Given the description of an element on the screen output the (x, y) to click on. 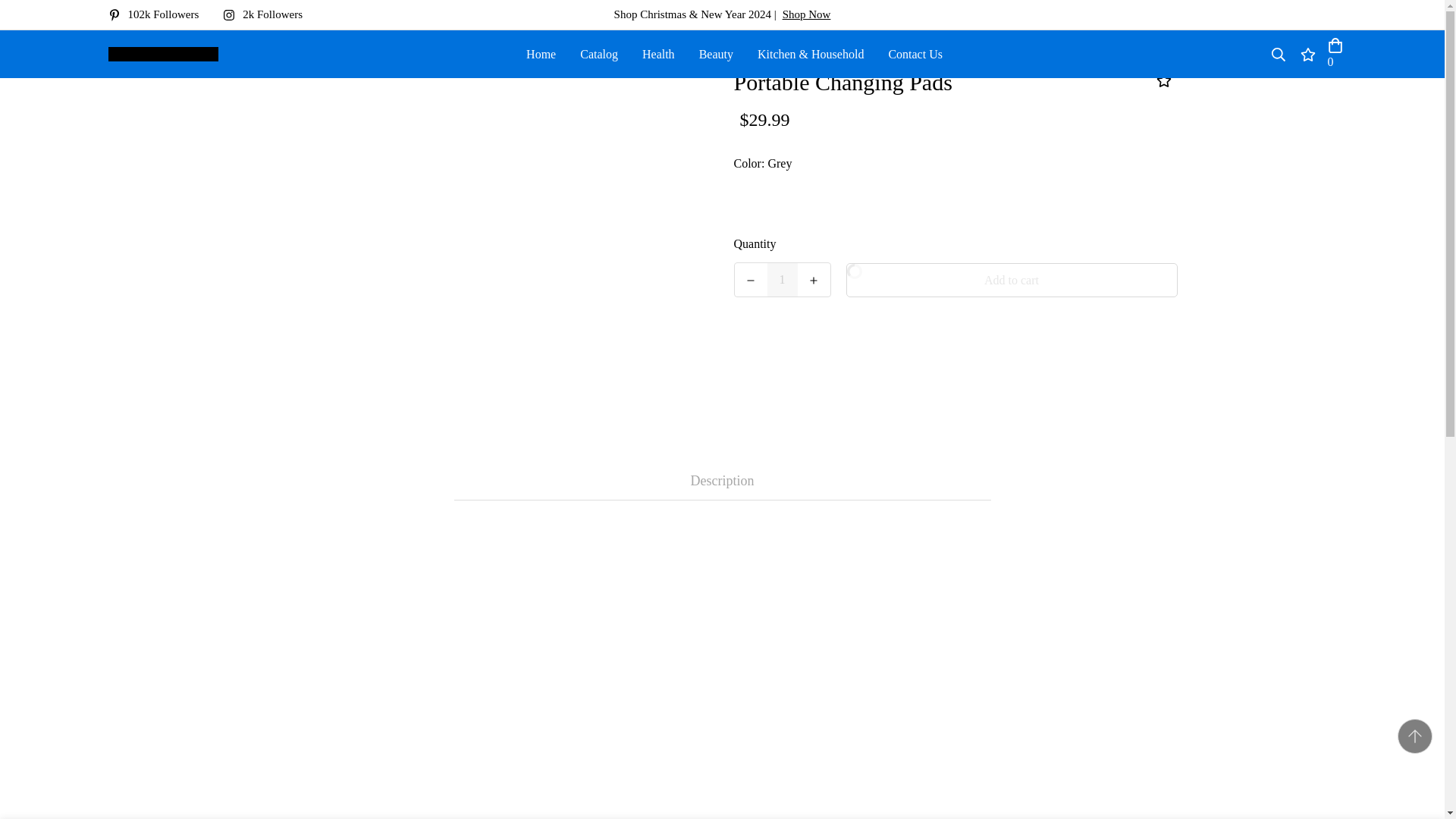
Shop Now (807, 14)
1 (782, 279)
Home (540, 53)
102k Followers (158, 14)
Health (658, 53)
Beauty (716, 53)
Contact Us (915, 53)
2k Followers (268, 14)
Catalog (598, 53)
